Given the description of an element on the screen output the (x, y) to click on. 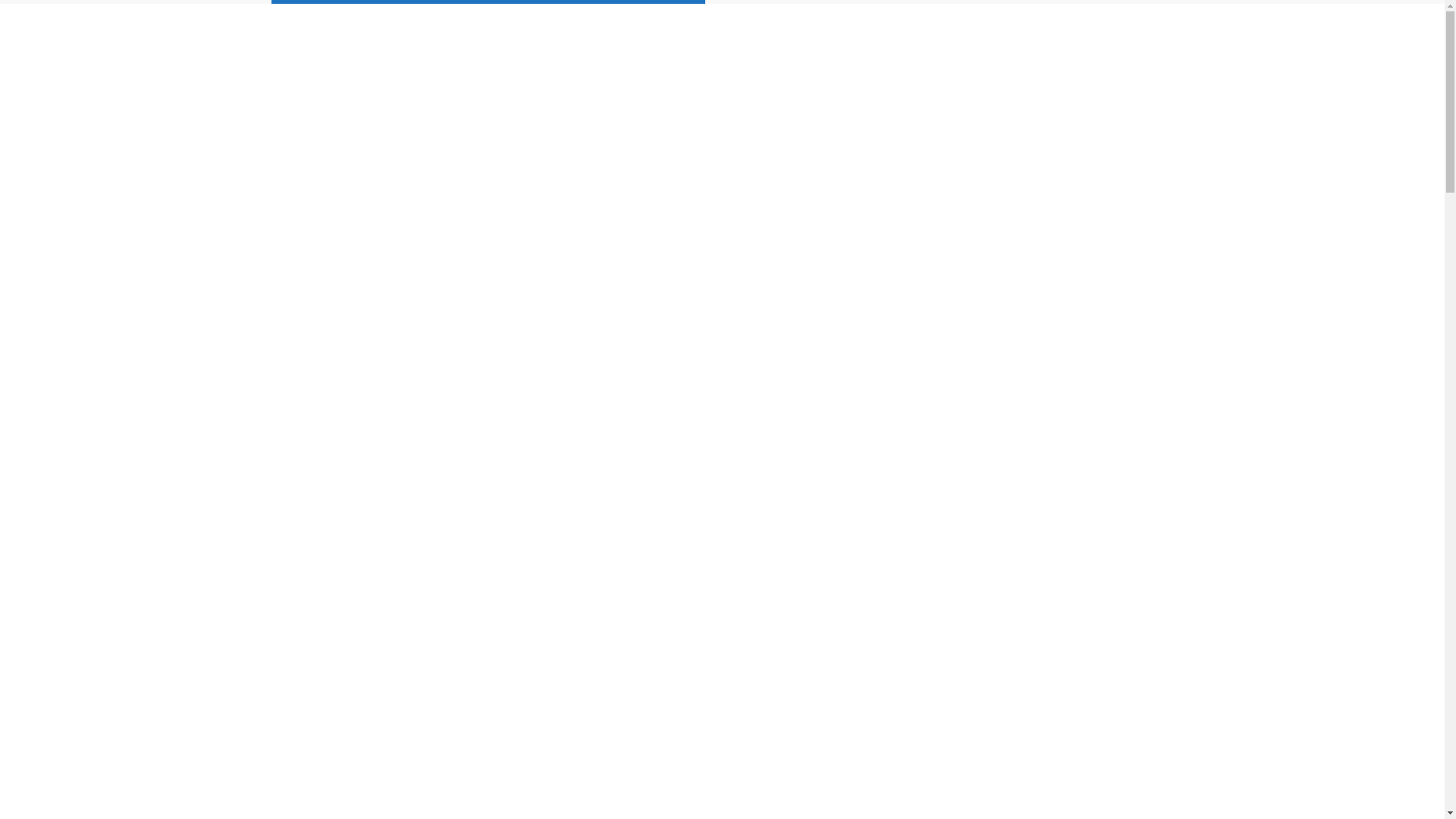

             Element type: hover (1176, 58)
Qui som Element type: text (833, 59)
+34877912263 Element type: text (299, 16)
Blog Element type: text (967, 59)
Inici Element type: text (778, 59)
Esdeveniments Element type: text (1040, 59)
info@zonaliquida.cat Element type: text (390, 16)
Coworkers Element type: text (905, 59)
Contacte Element type: text (1125, 59)
